Given the description of an element on the screen output the (x, y) to click on. 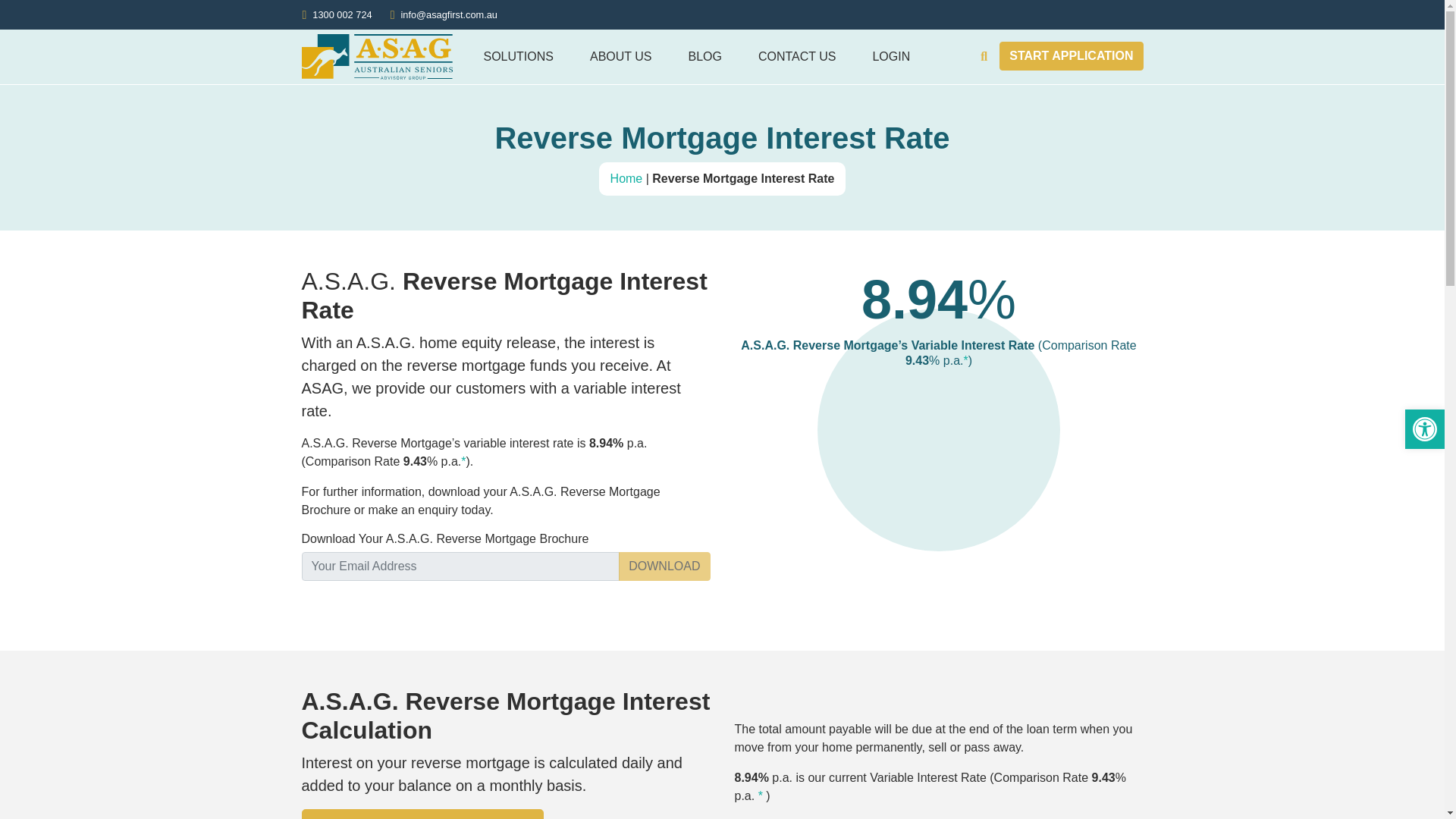
Accessibility Tools (1424, 428)
Home (626, 178)
LOGIN (890, 56)
CONTACT US (796, 56)
ABOUT US (620, 56)
BLOG (704, 56)
HOW MUCH CAN I BORROW? (422, 814)
START APPLICATION (1070, 55)
SOLUTIONS (518, 56)
DOWNLOAD (664, 566)
1300 002 724 (342, 14)
